Given the description of an element on the screen output the (x, y) to click on. 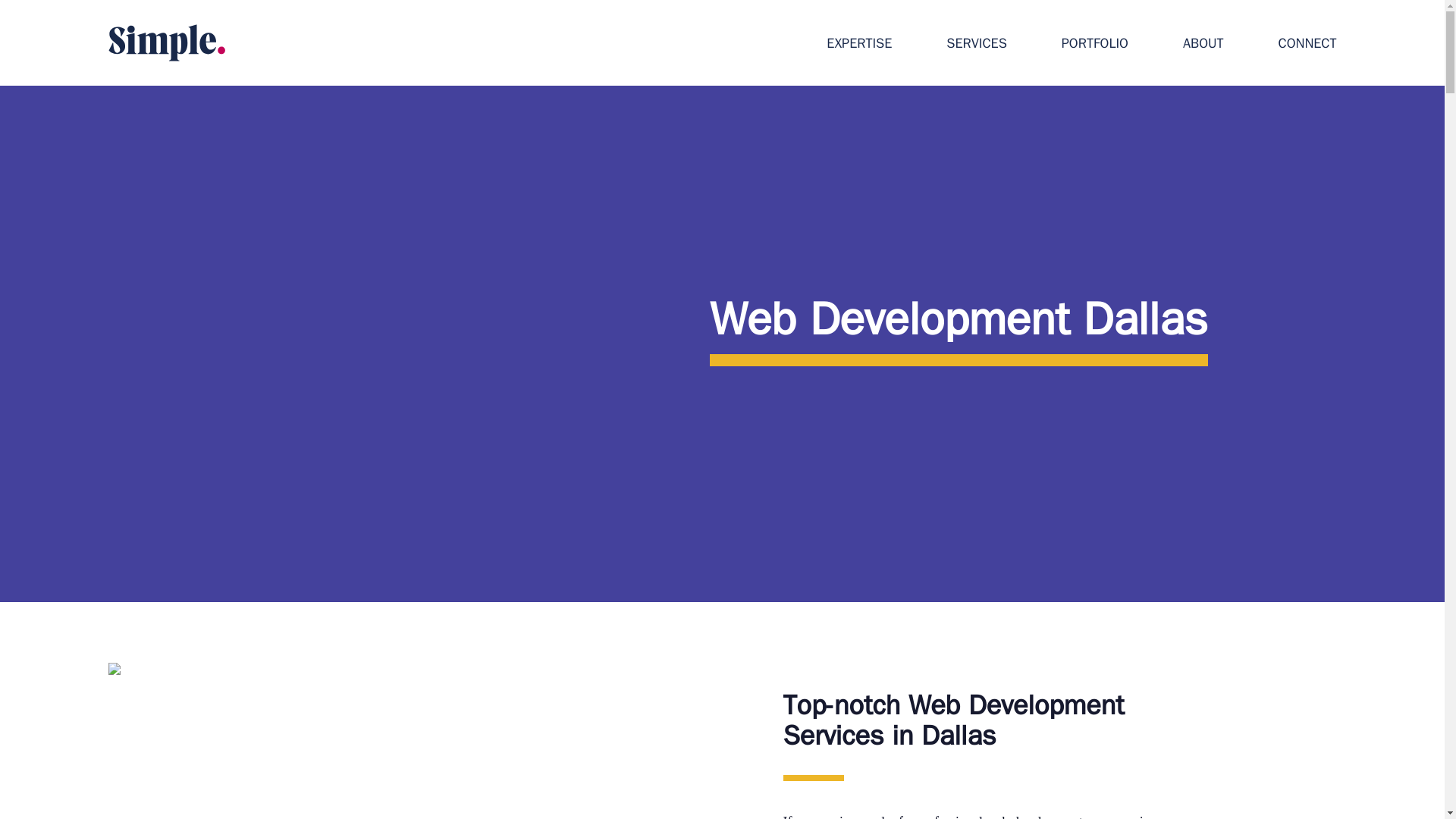
EXPERTISE (859, 44)
SERVICES (976, 44)
ABOUT (1203, 44)
CONNECT (1307, 44)
web development (1033, 816)
PORTFOLIO (1094, 44)
